Given the description of an element on the screen output the (x, y) to click on. 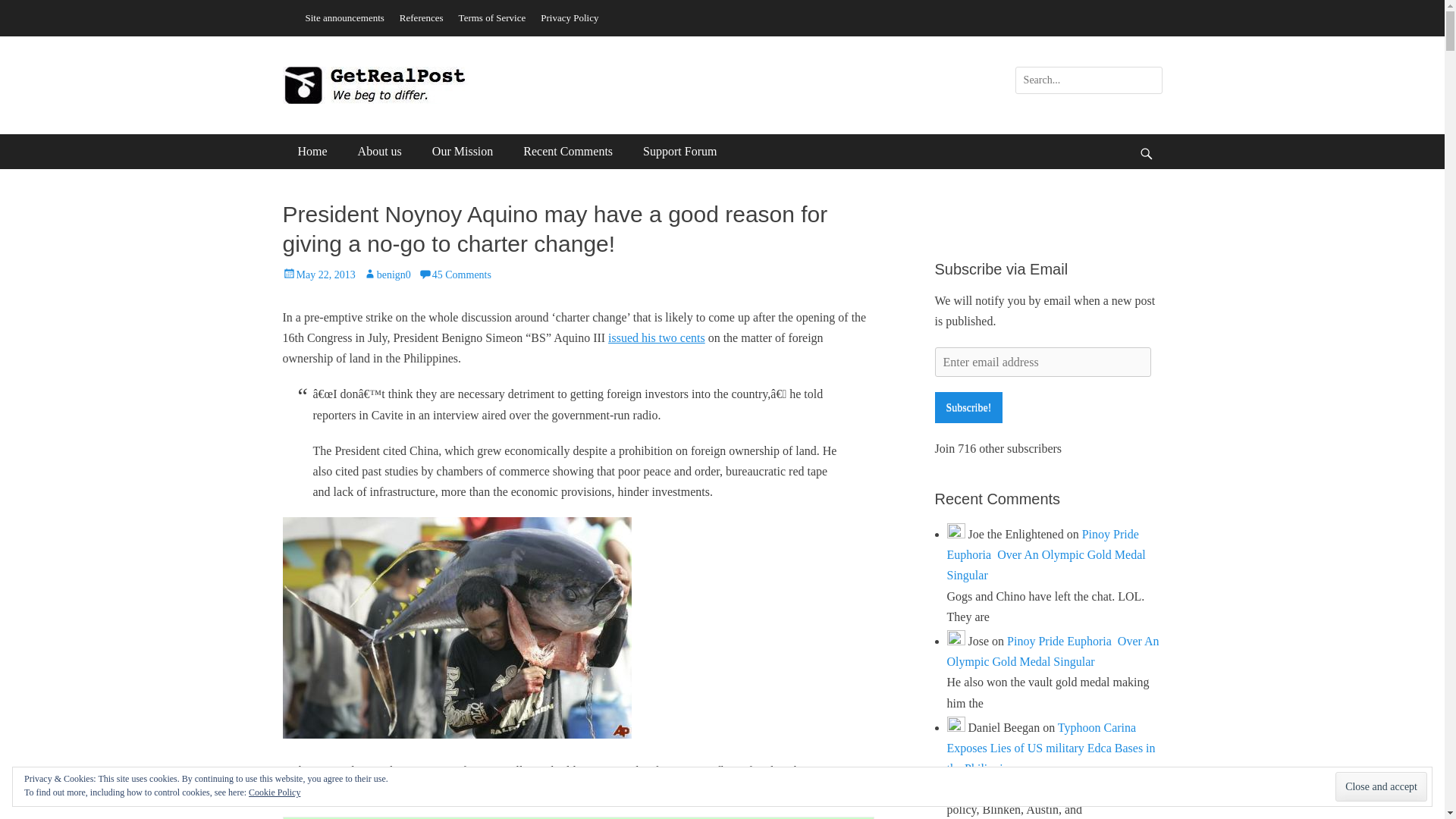
References (421, 17)
Support Forum (679, 151)
issued his two cents (656, 337)
benign0 (386, 274)
About us (379, 151)
Our Mission (462, 151)
Home (312, 151)
Recent Comments (567, 151)
Get Real Post (375, 85)
Terms of Service (492, 17)
45 Comments (455, 274)
Search for: (1087, 80)
May 22, 2013 (318, 274)
Close and accept (1380, 786)
